Given the description of an element on the screen output the (x, y) to click on. 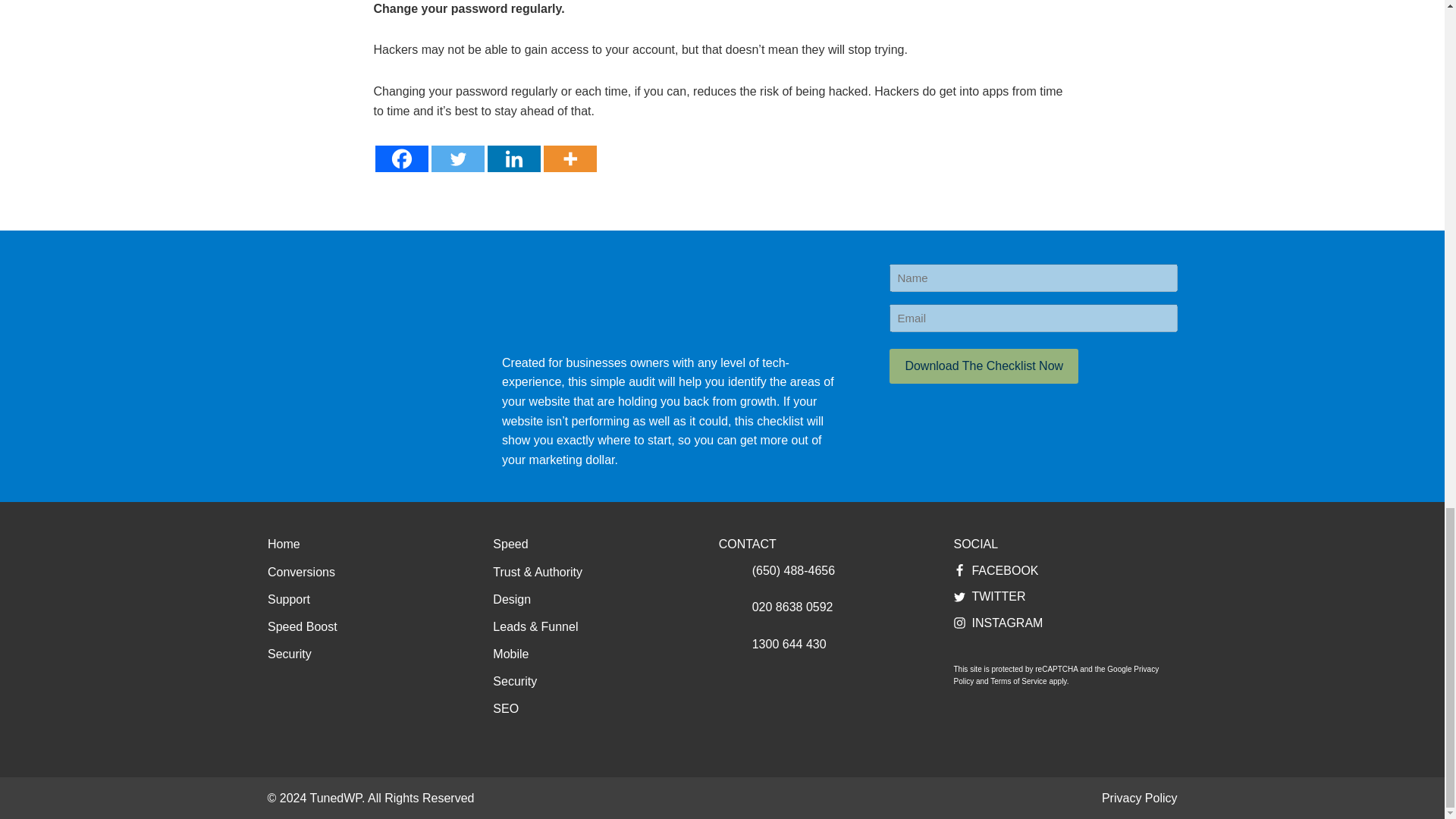
Download The Checklist Now (983, 365)
Conversions (300, 572)
Home (283, 544)
Support (288, 599)
Speed Boost (302, 627)
Facebook (401, 158)
More (569, 158)
Security (289, 654)
Twitter (456, 158)
Linkedin (513, 158)
Download The Checklist Now (983, 365)
